Given the description of an element on the screen output the (x, y) to click on. 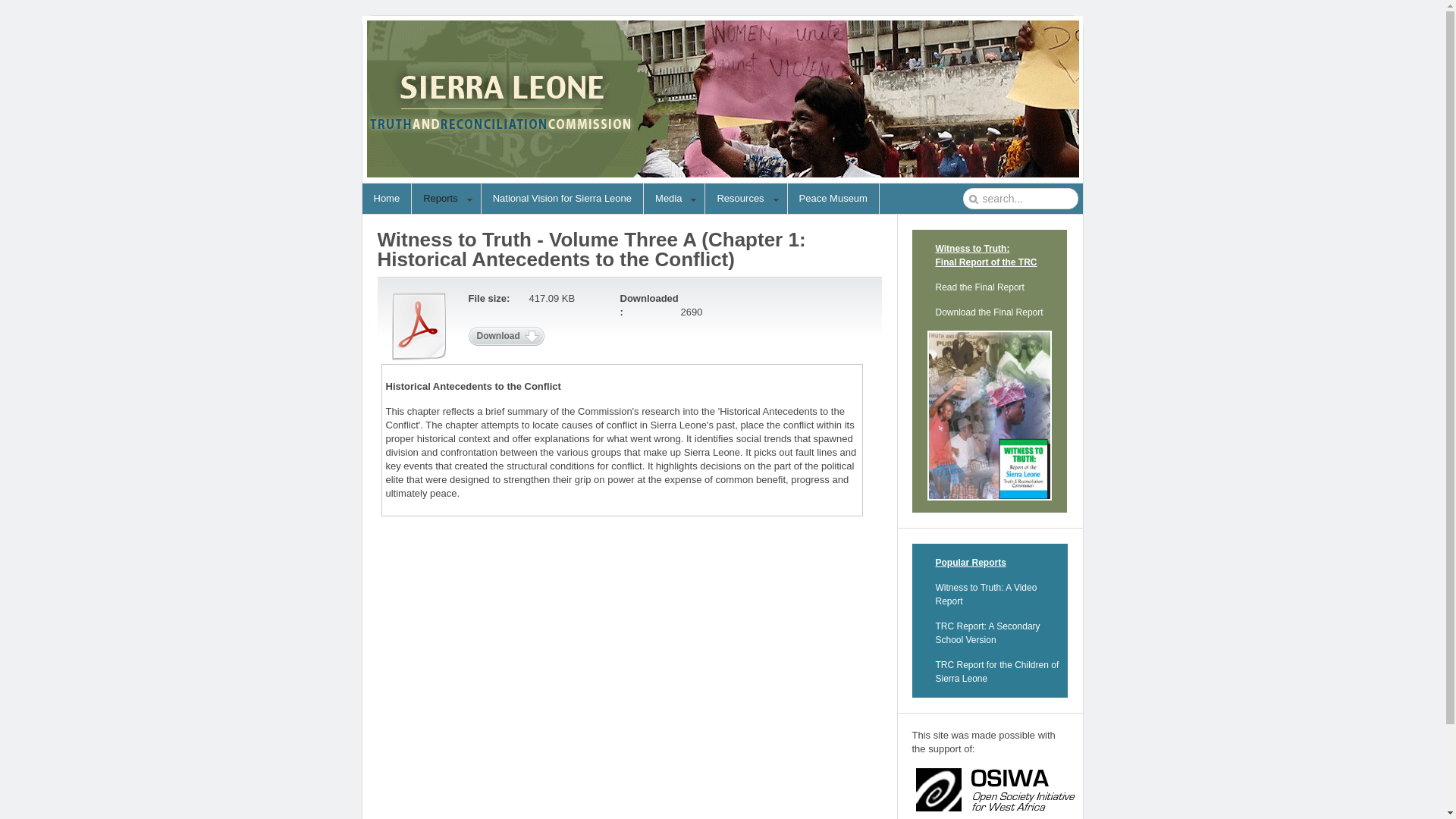
Popular Reports (971, 562)
TRC Report for the Children of Sierra Leone (997, 671)
TRC Report: A Secondary School Version (988, 632)
Download Volume3aChapter1.pdf (506, 335)
Media (673, 198)
Reset (3, 2)
National Vision for Sierra Leone (562, 198)
Peace Museum (833, 198)
Read the Final Report (980, 286)
Resources (745, 198)
